Given the description of an element on the screen output the (x, y) to click on. 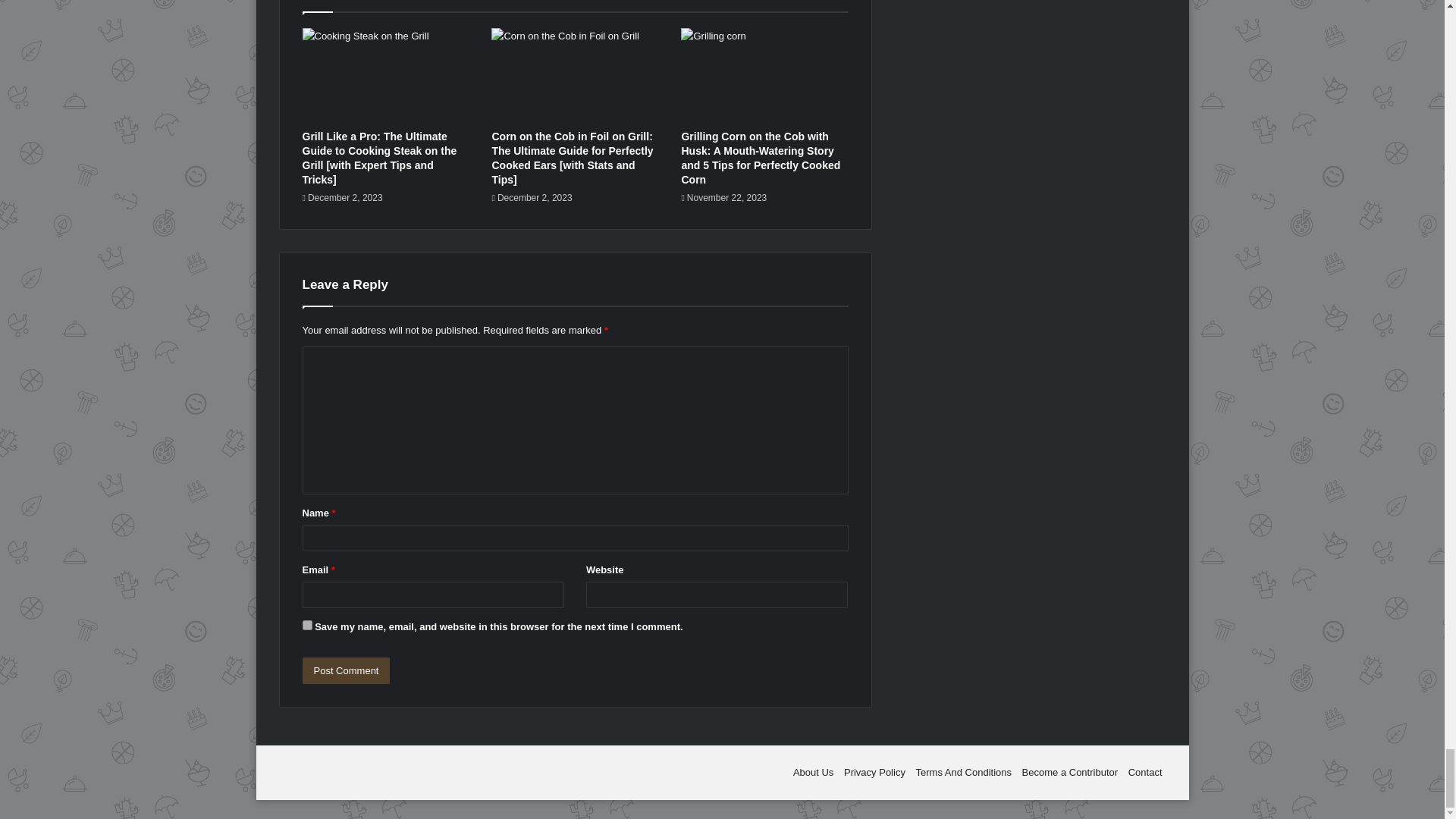
yes (306, 624)
Post Comment (345, 670)
